Given the description of an element on the screen output the (x, y) to click on. 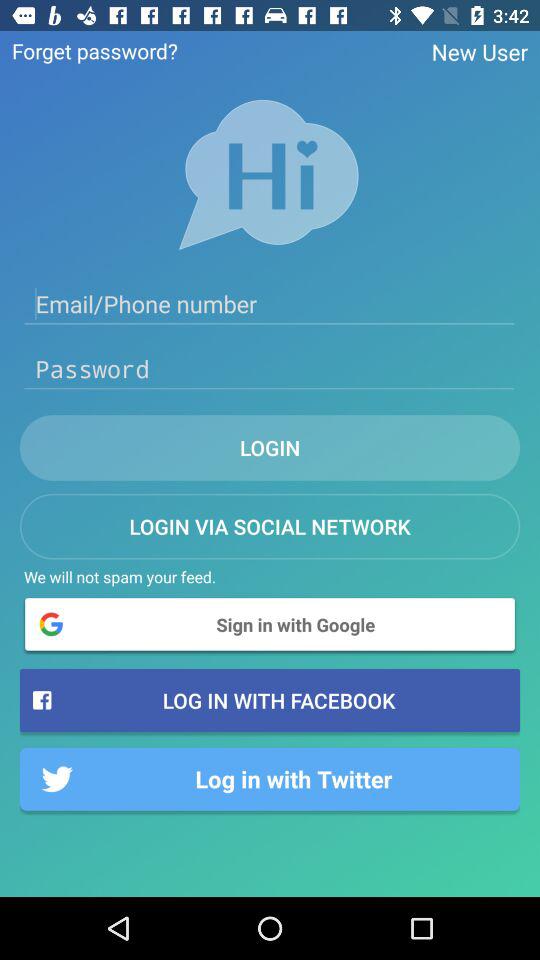
email login (269, 304)
